Given the description of an element on the screen output the (x, y) to click on. 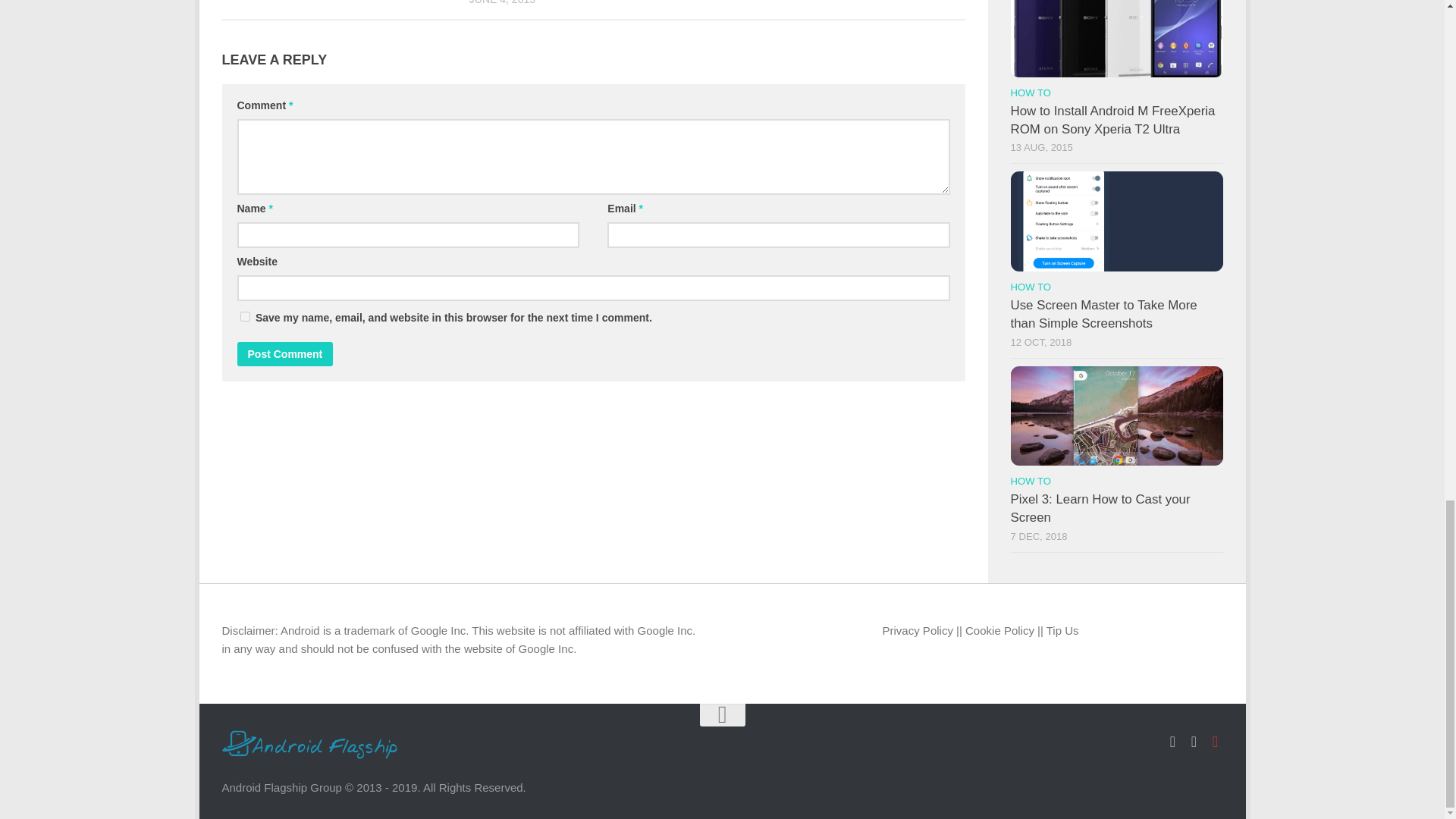
Post Comment (284, 354)
yes (244, 316)
Post Comment (284, 354)
